Given the description of an element on the screen output the (x, y) to click on. 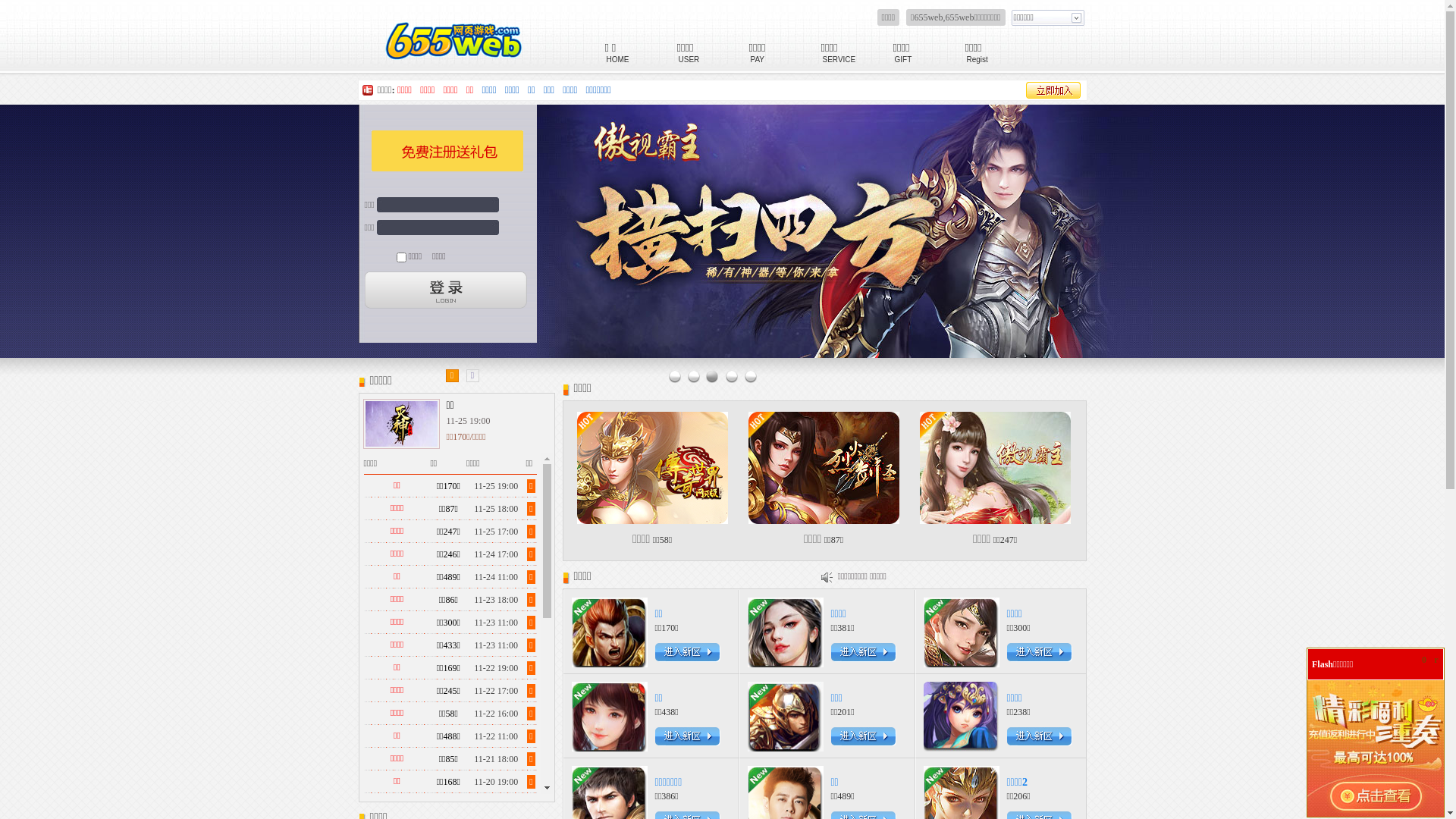
0 Element type: text (1423, 659)
r Element type: text (1435, 659)
